Given the description of an element on the screen output the (x, y) to click on. 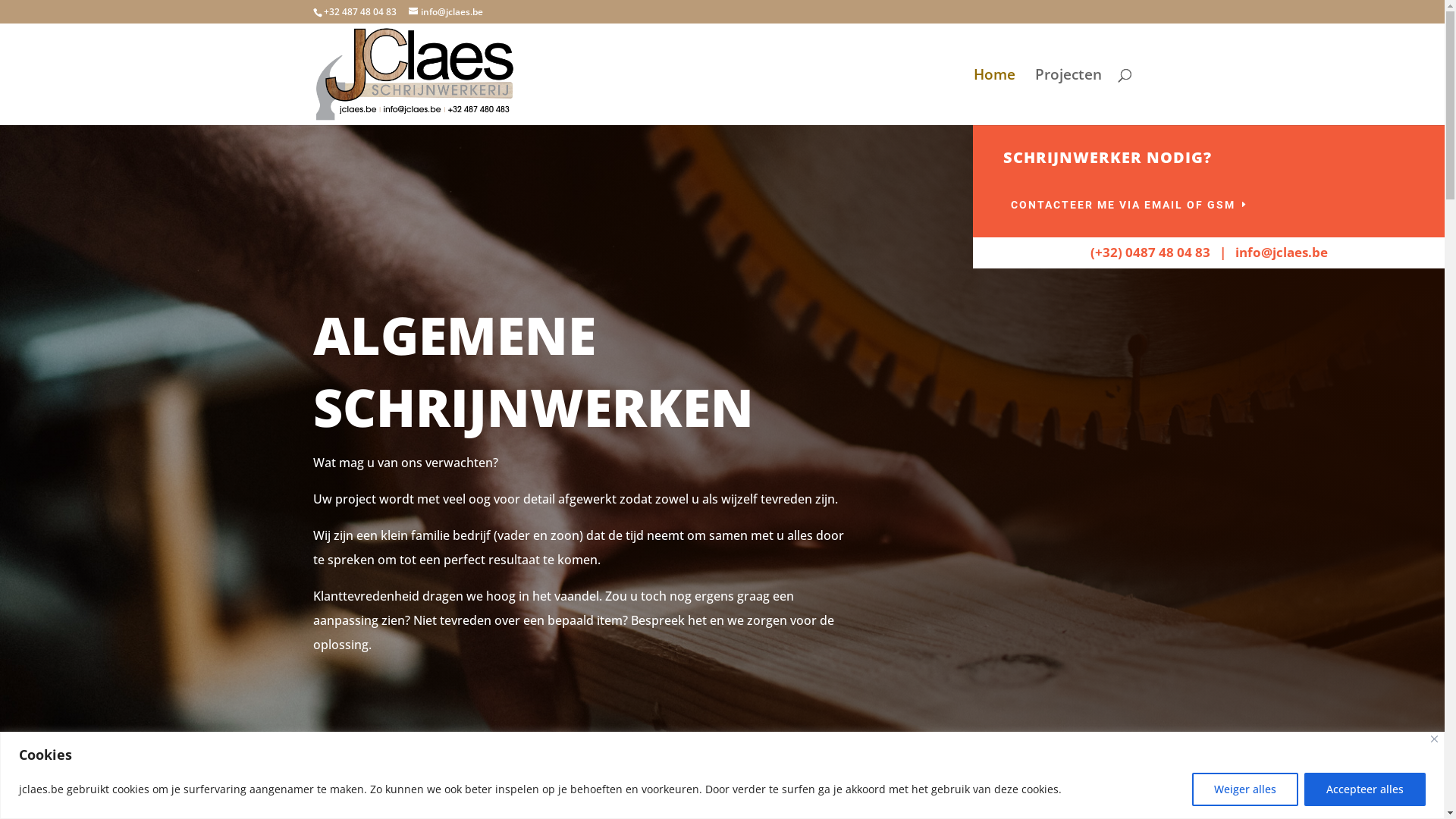
info@jclaes.be Element type: text (444, 11)
Home Element type: text (994, 97)
Weiger alles Element type: text (1245, 788)
Projecten Element type: text (1067, 97)
Accepteer alles Element type: text (1364, 788)
CONTACTEER ME VIA EMAIL OF GSM Element type: text (1129, 205)
(+32) 0487 48 04 83 Element type: text (1150, 251)
info@jclaes.be Element type: text (1281, 251)
